Given the description of an element on the screen output the (x, y) to click on. 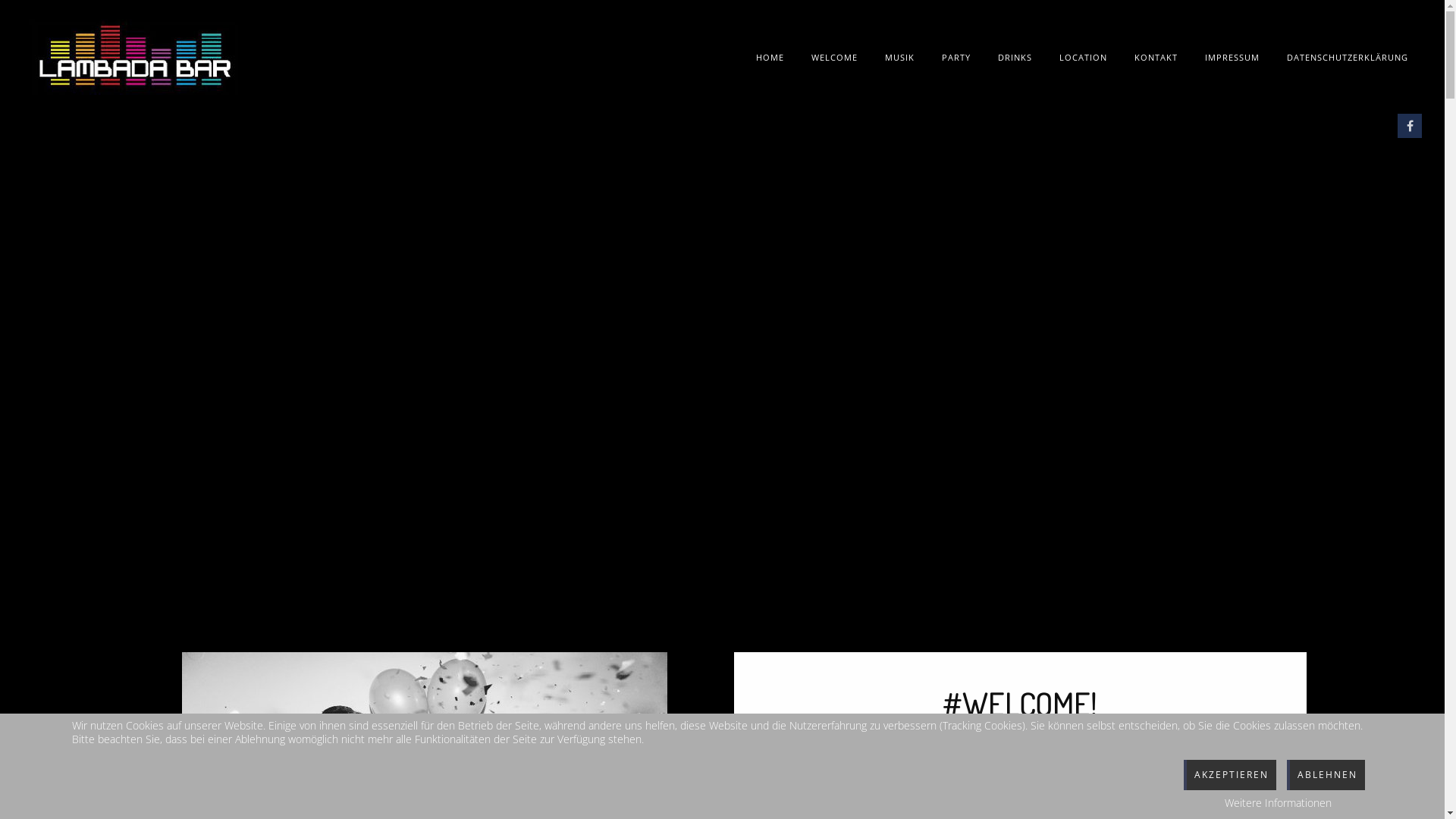
HOME Element type: text (769, 56)
MUSIK Element type: text (899, 56)
AKZEPTIEREN Element type: text (1229, 774)
DRINKS Element type: text (1014, 56)
Weitere Informationen Element type: text (1277, 802)
Facebook Element type: hover (1409, 125)
WELCOME Element type: text (834, 56)
LOCATION Element type: text (1082, 56)
IMPRESSUM Element type: text (1232, 56)
PARTY Element type: text (956, 56)
KONTAKT Element type: text (1155, 56)
ABLEHNEN Element type: text (1325, 774)
